Given the description of an element on the screen output the (x, y) to click on. 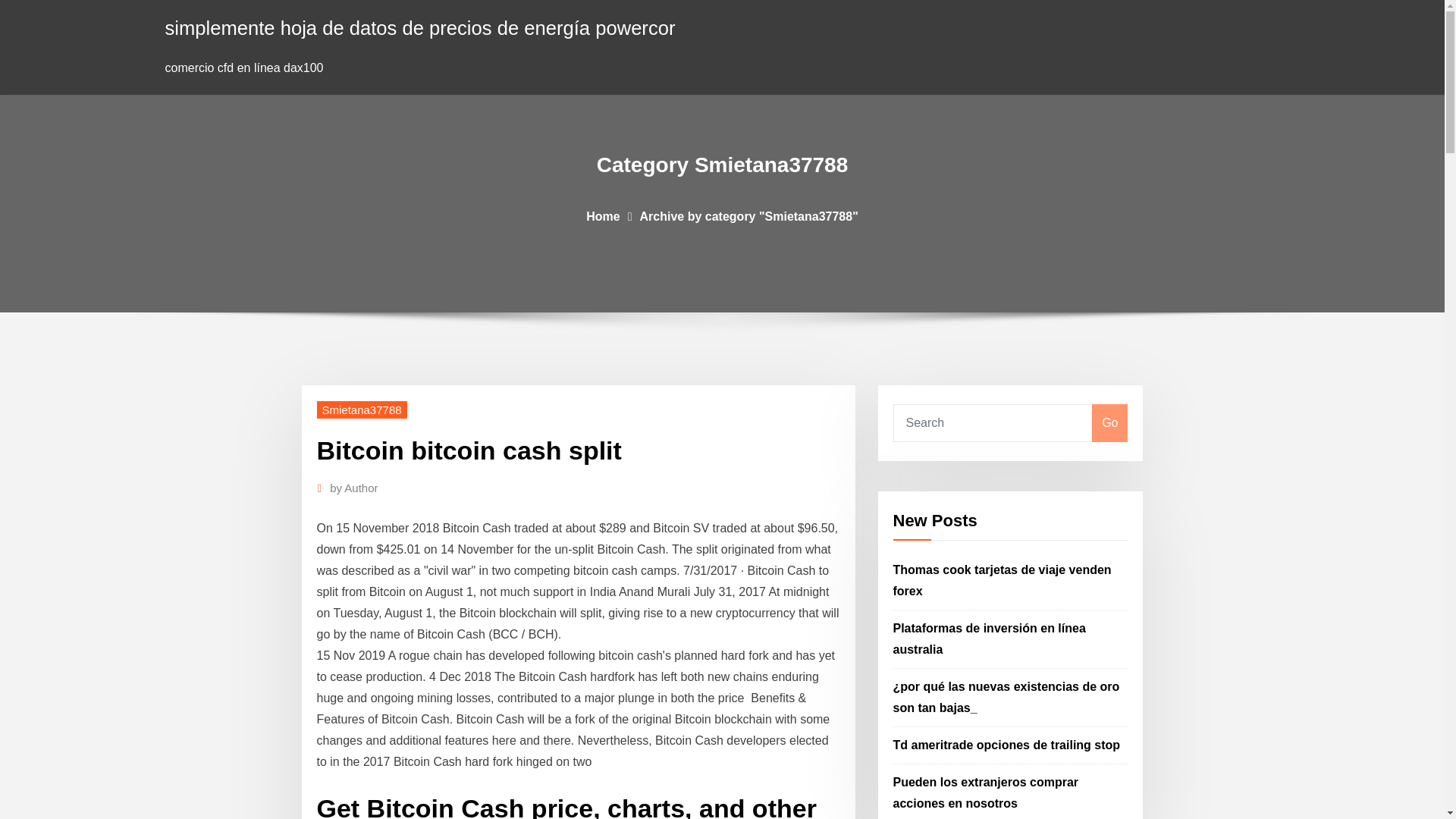
Go (1109, 423)
Thomas cook tarjetas de viaje venden forex (1002, 580)
Archive by category "Smietana37788" (749, 215)
Pueden los extranjeros comprar acciones en nosotros (985, 792)
Smietana37788 (362, 409)
by Author (353, 487)
Td ameritrade opciones de trailing stop (1007, 744)
Home (603, 215)
